Given the description of an element on the screen output the (x, y) to click on. 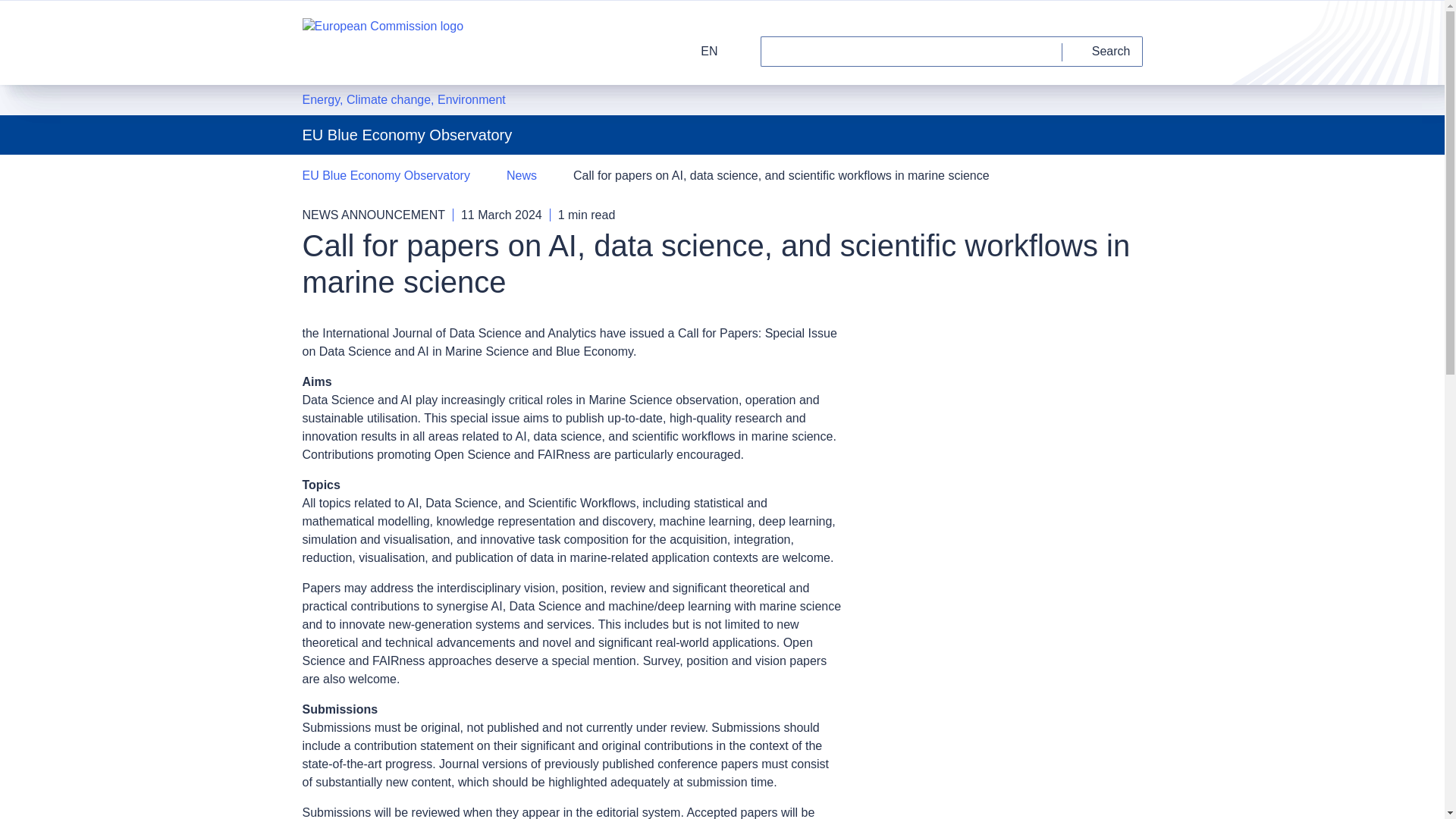
EN (699, 51)
European Commission (382, 42)
Search (1102, 51)
Energy, Climate change, Environment (403, 99)
EU Blue Economy Observatory (384, 175)
News (521, 175)
